Given the description of an element on the screen output the (x, y) to click on. 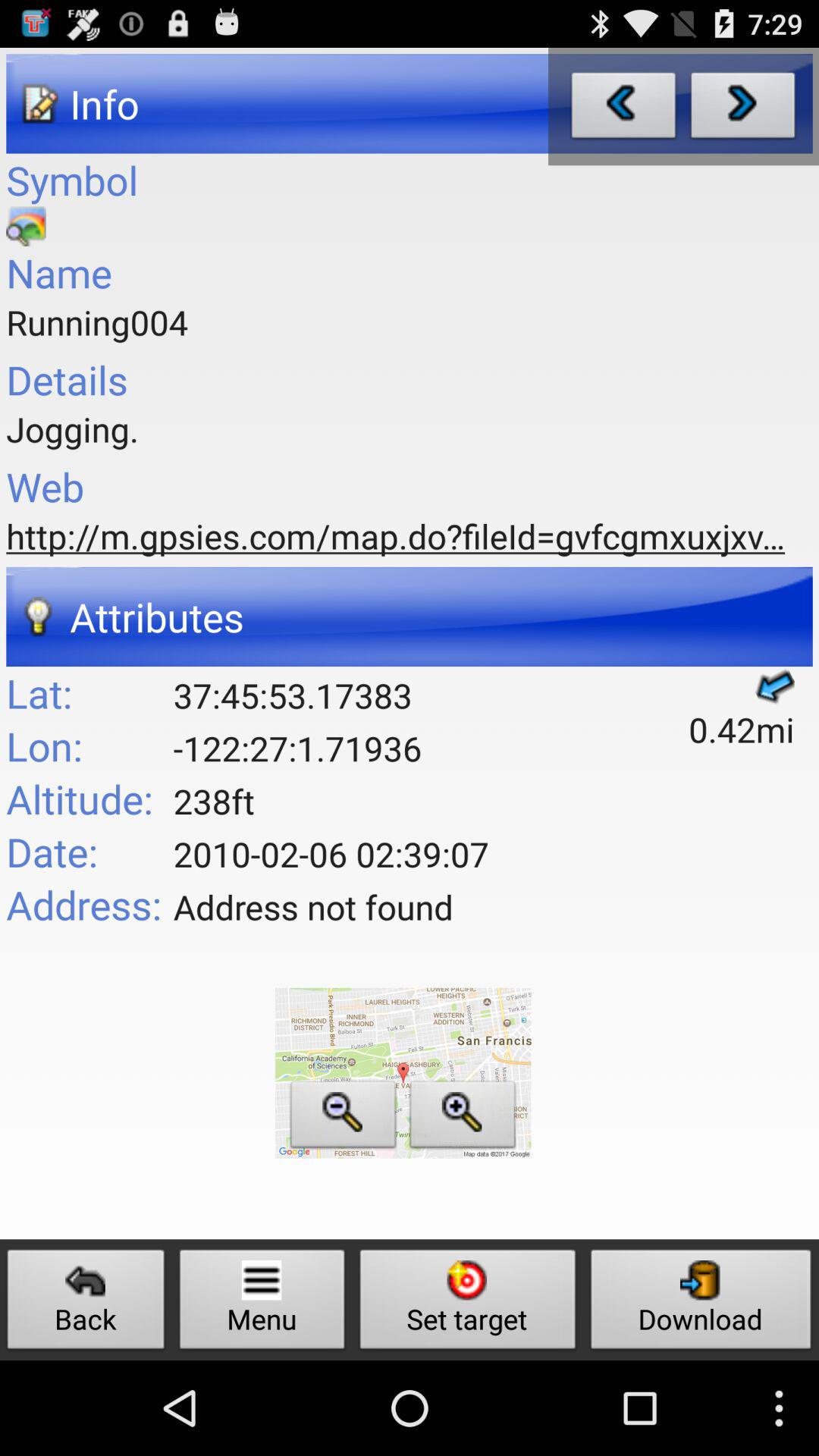
select menu button (262, 1303)
